Given the description of an element on the screen output the (x, y) to click on. 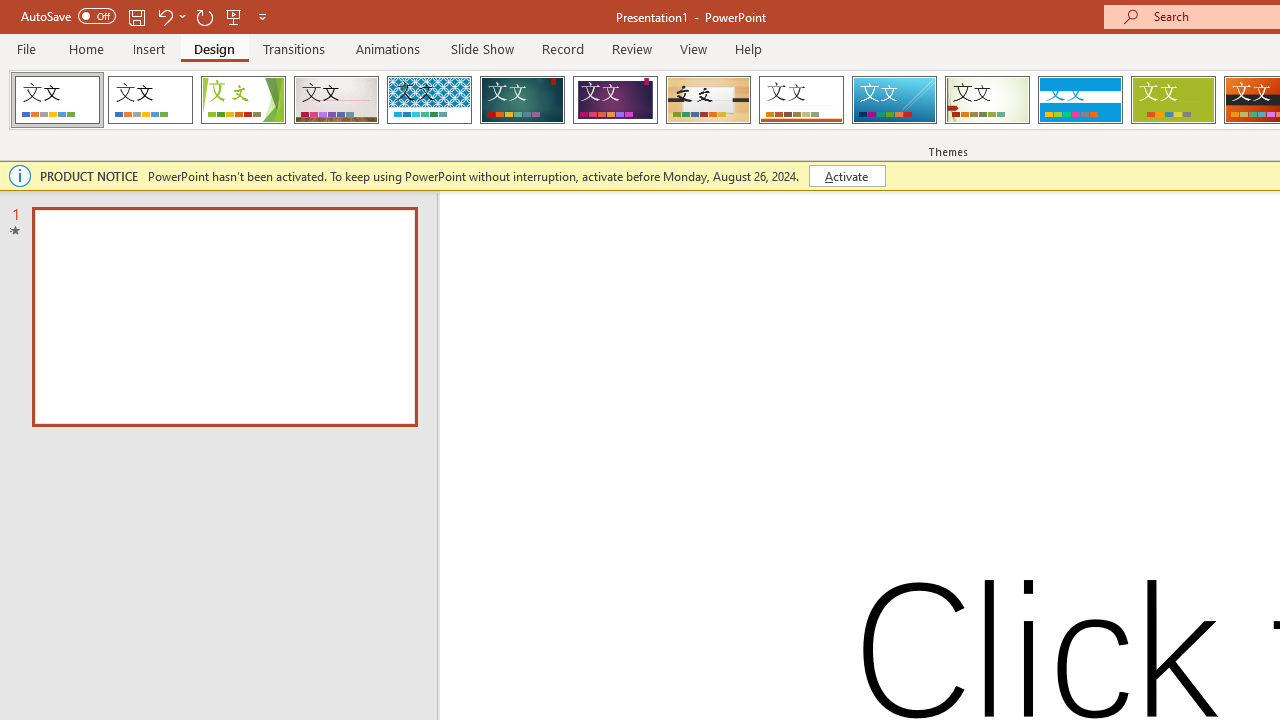
Basis (1172, 100)
Ion Boardroom (615, 100)
Retrospect (801, 100)
Ion (522, 100)
Integral (429, 100)
Gallery (336, 100)
